Given the description of an element on the screen output the (x, y) to click on. 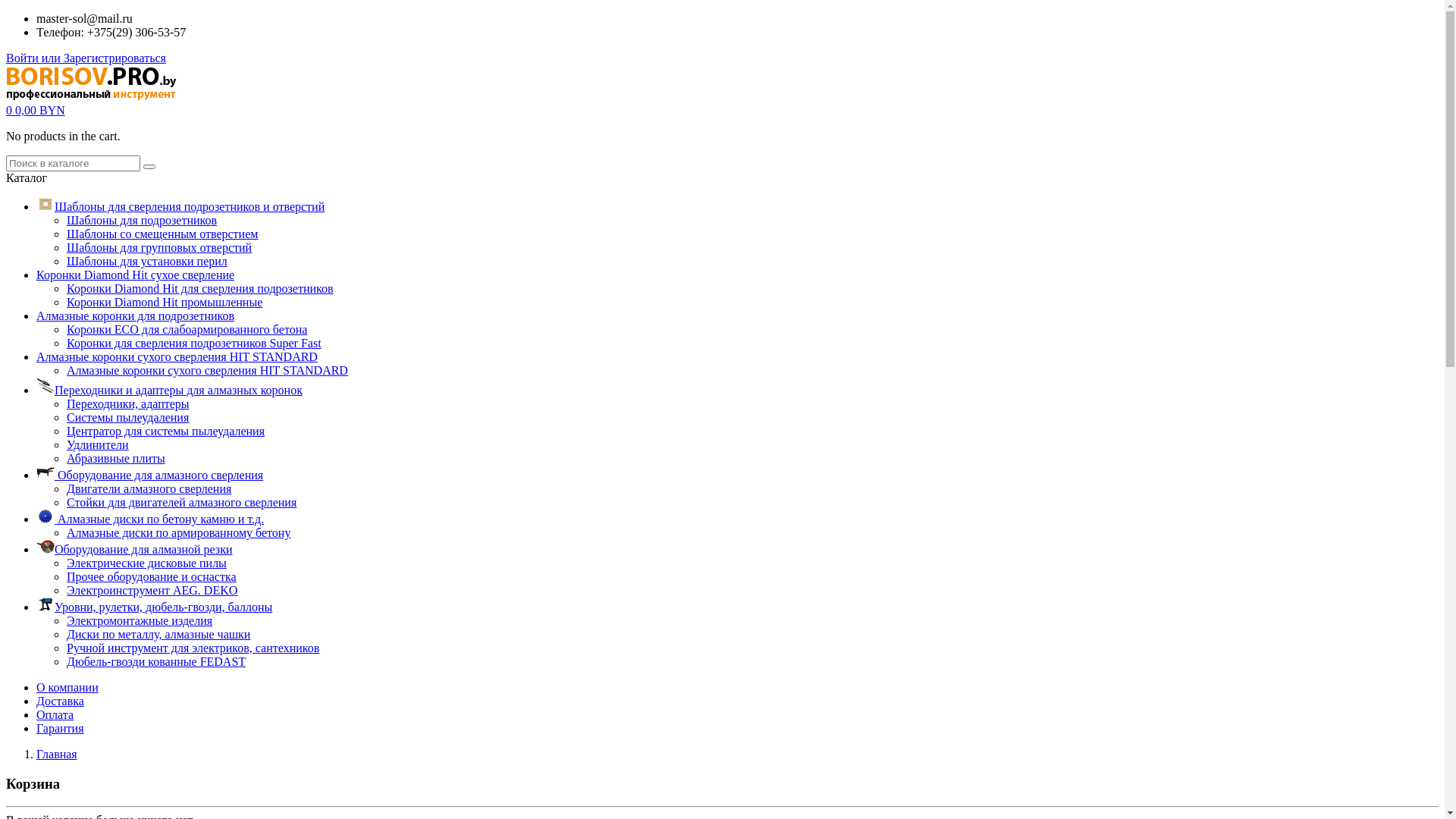
0 0,00 BYN Element type: text (35, 109)
